Given the description of an element on the screen output the (x, y) to click on. 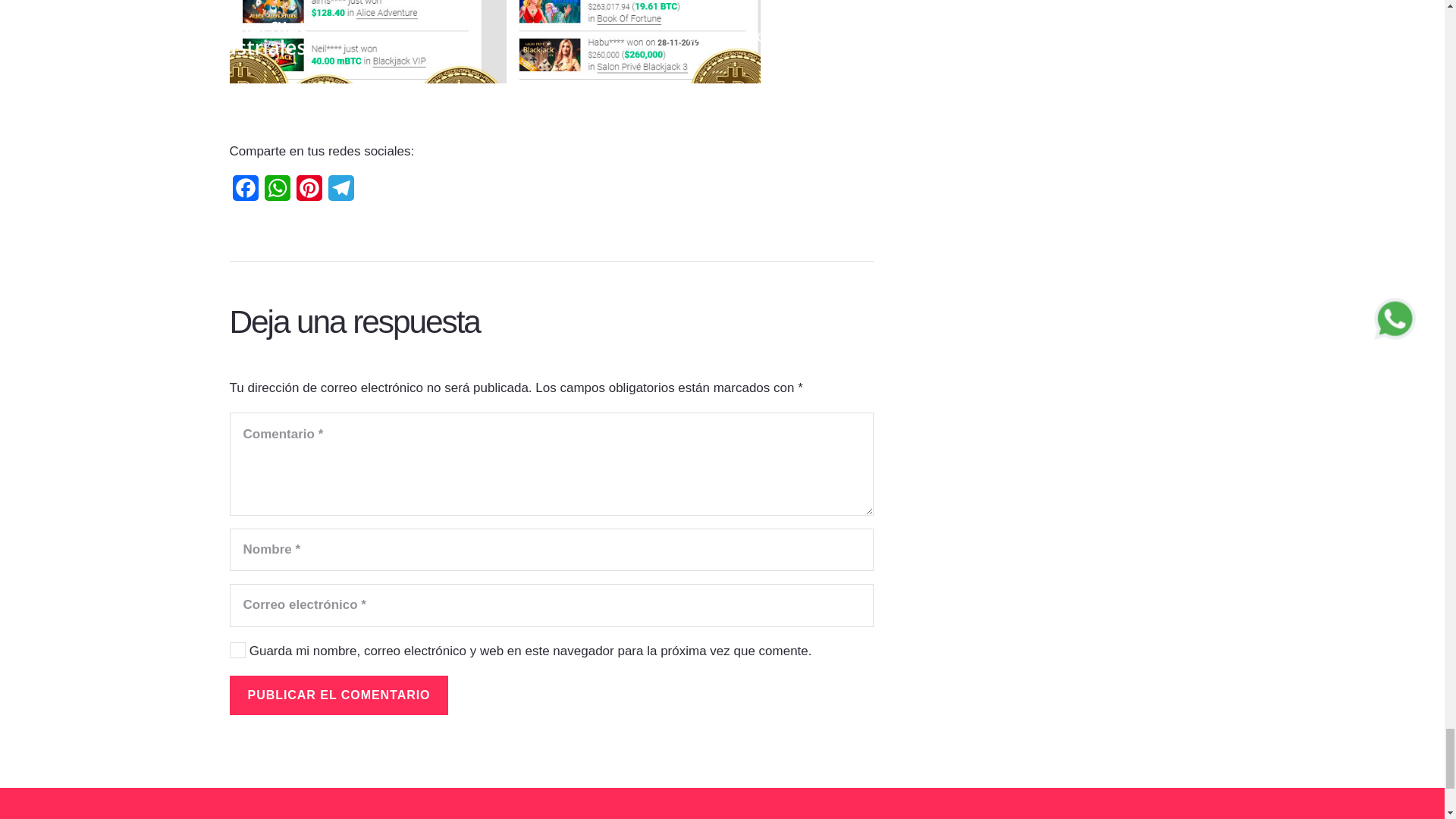
WhatsApp (276, 192)
Telegram (340, 192)
Facebook (244, 192)
Telegram (340, 192)
Pinterest (308, 192)
Facebook (244, 192)
PUBLICAR EL COMENTARIO (338, 694)
Pinterest (308, 192)
1 (236, 648)
New casino in cyprus (494, 56)
